Given the description of an element on the screen output the (x, y) to click on. 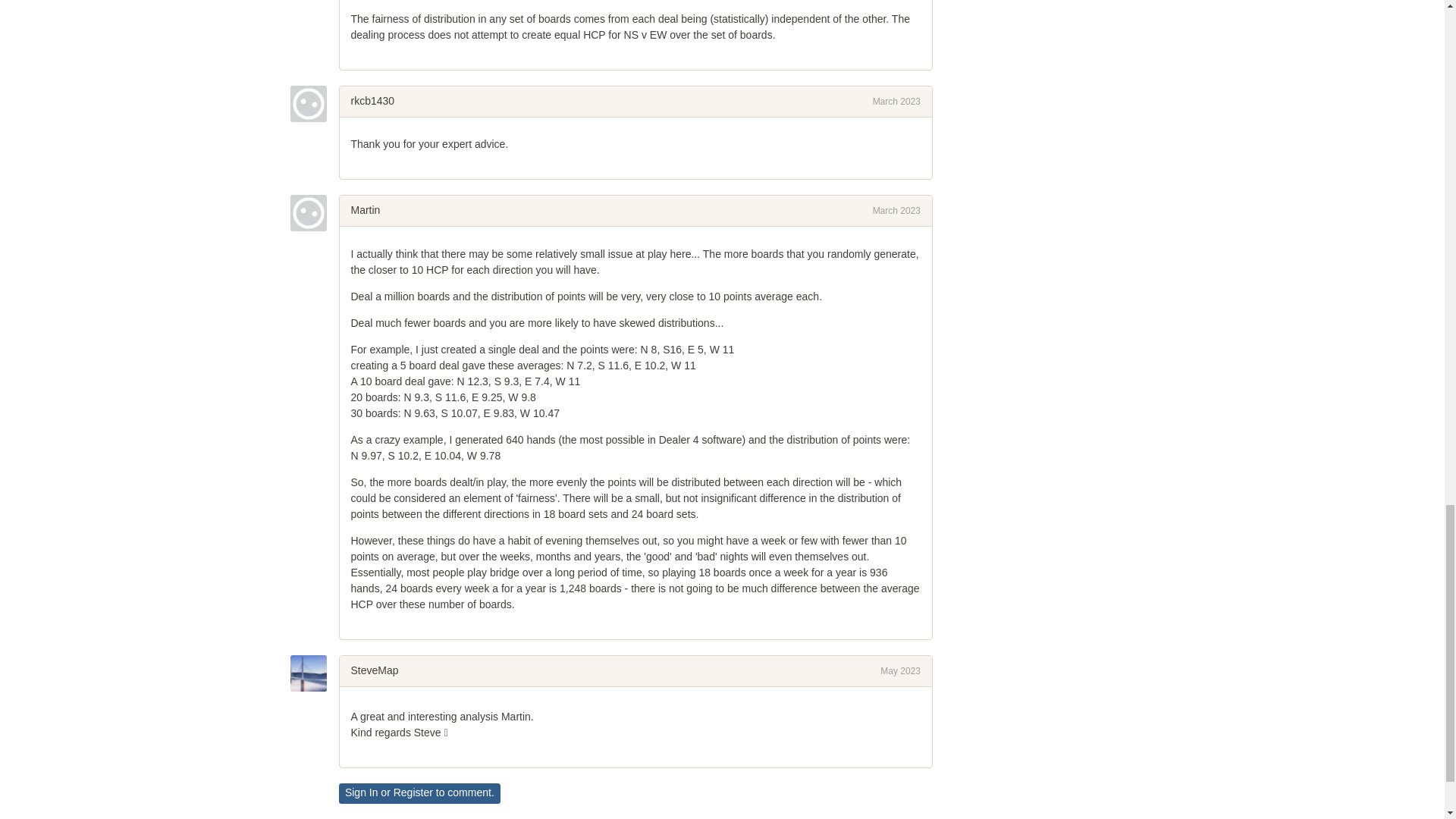
March 25, 2023 11:43PM (896, 210)
SteveMap (313, 673)
March 11, 2023 12:30PM (896, 101)
rkcb1430 (372, 101)
rkcb1430 (313, 103)
Martin (313, 212)
May 19, 2023 3:33PM (900, 670)
